Given the description of an element on the screen output the (x, y) to click on. 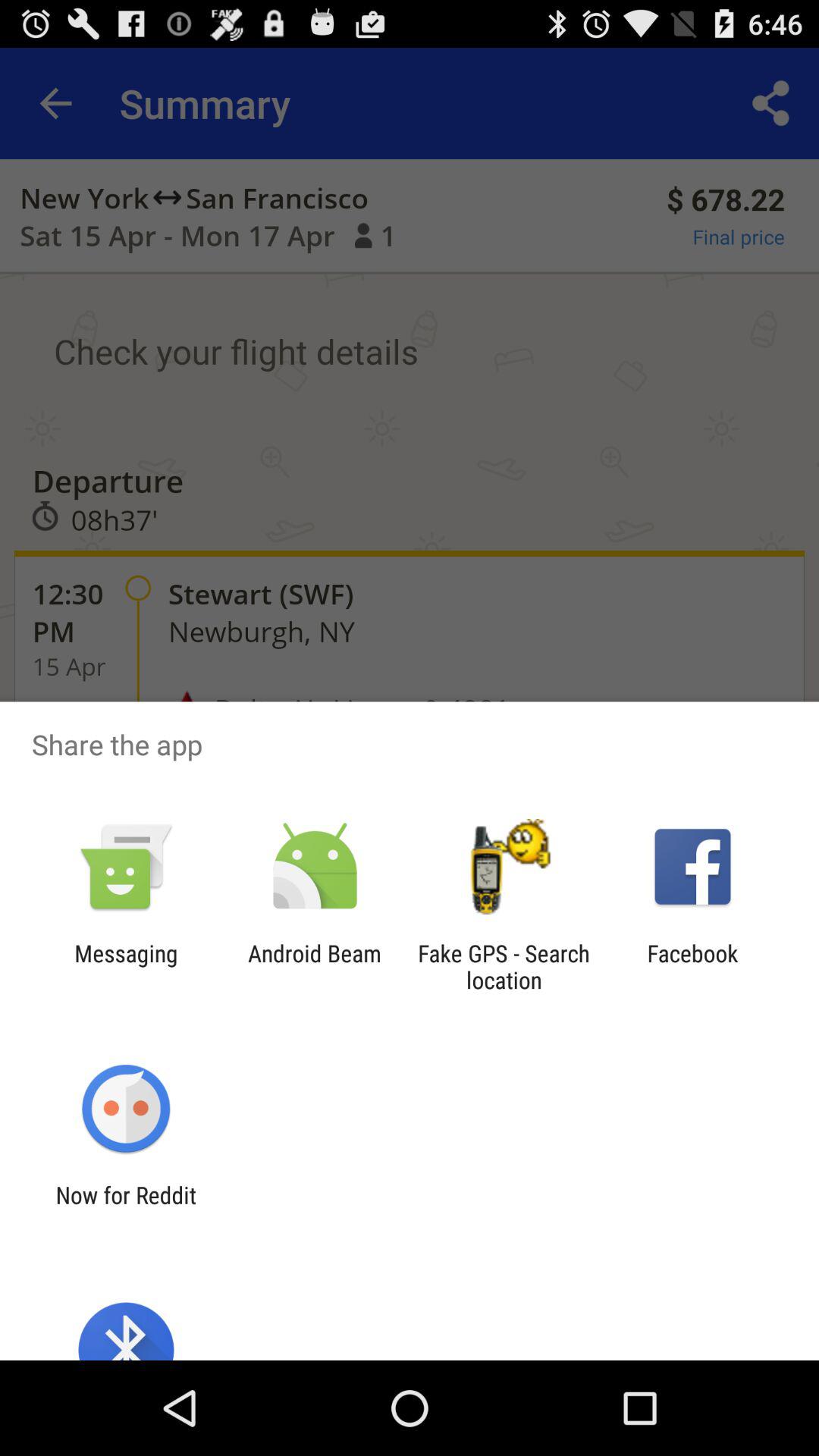
select the item next to android beam (126, 966)
